Given the description of an element on the screen output the (x, y) to click on. 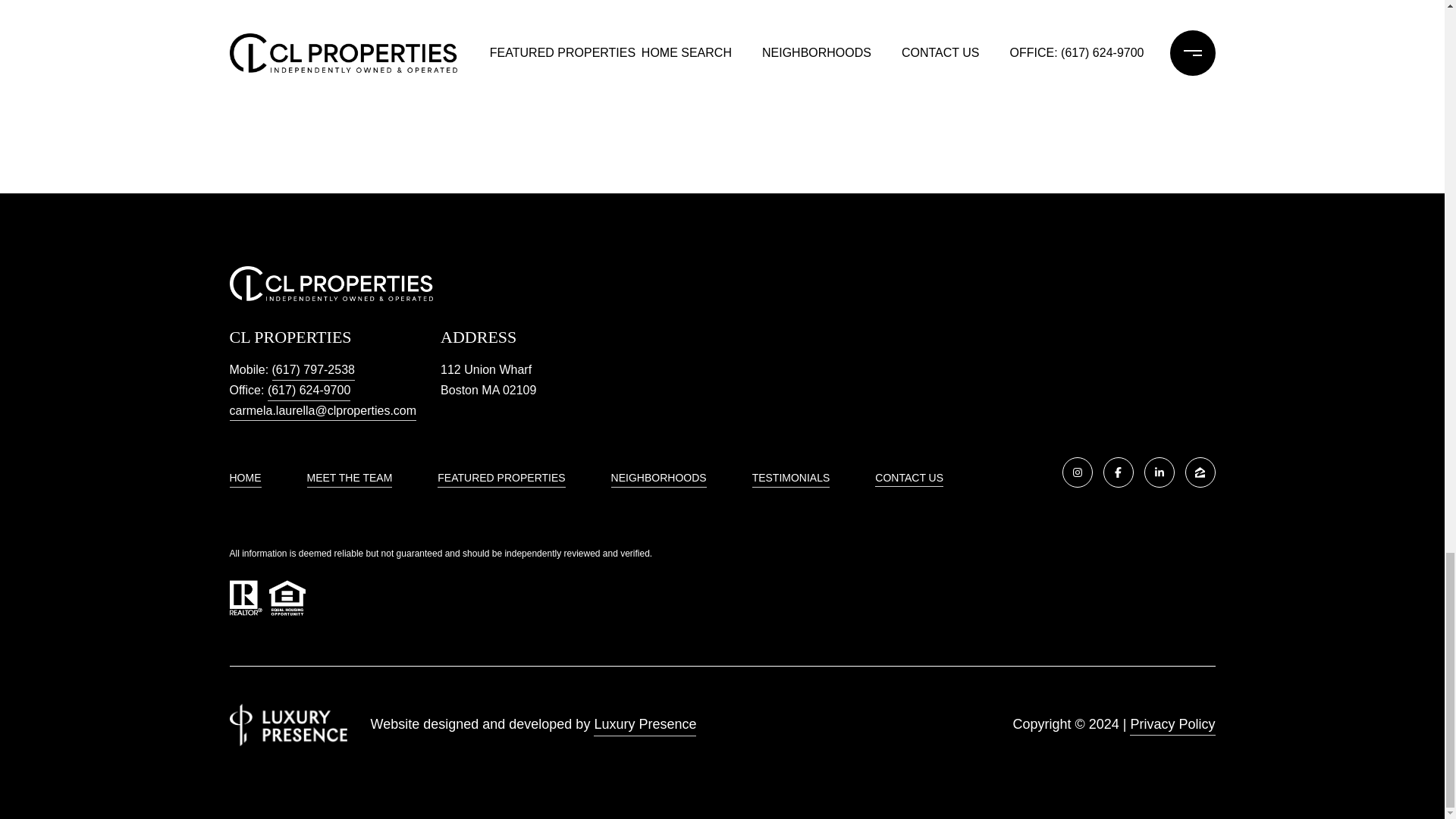
MEET THE TEAM (348, 479)
FEATURED PROPERTIES (501, 479)
HOME (244, 479)
NEIGHBORHOODS (658, 479)
